Given the description of an element on the screen output the (x, y) to click on. 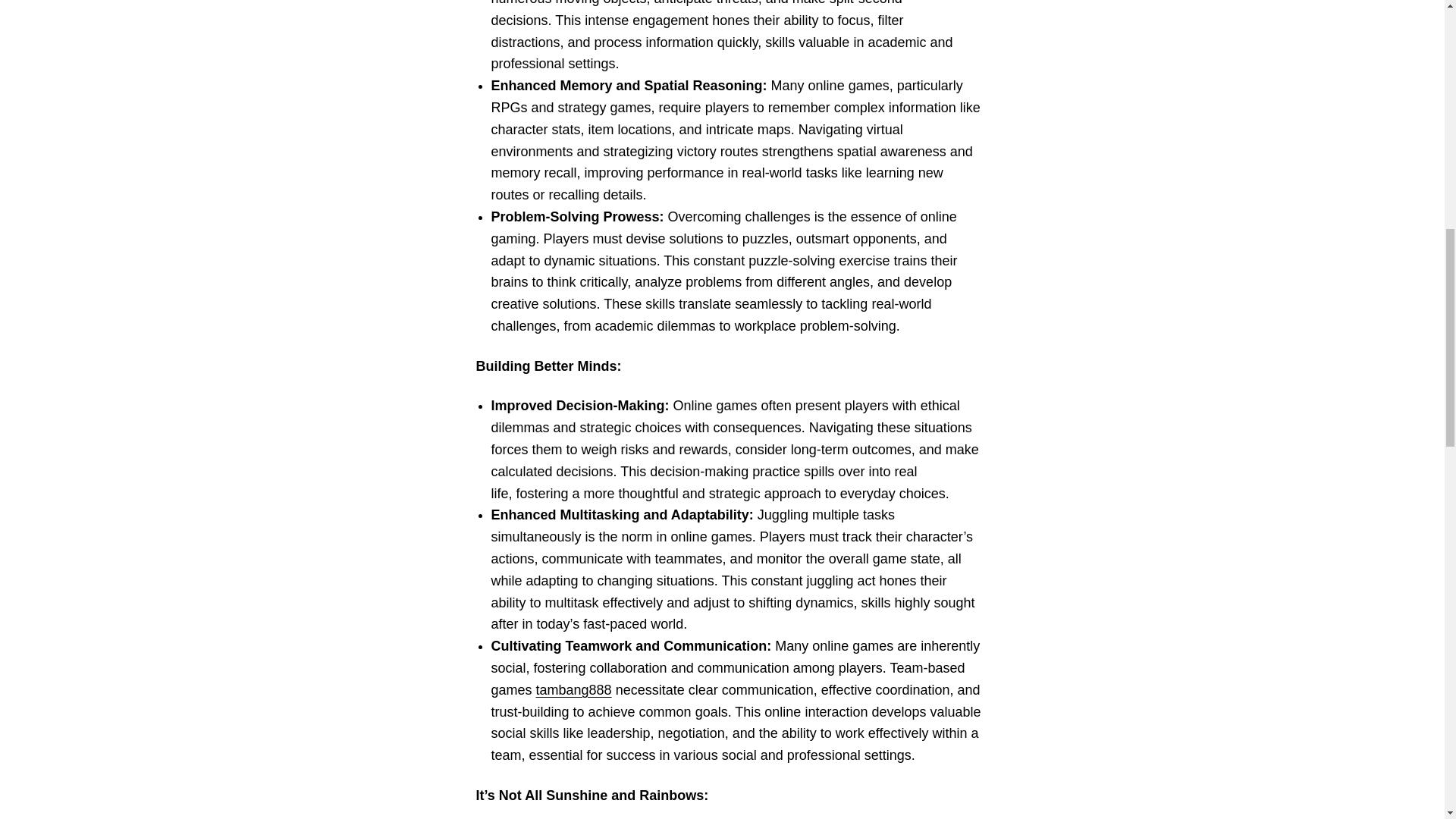
tambang888 (573, 689)
